Given the description of an element on the screen output the (x, y) to click on. 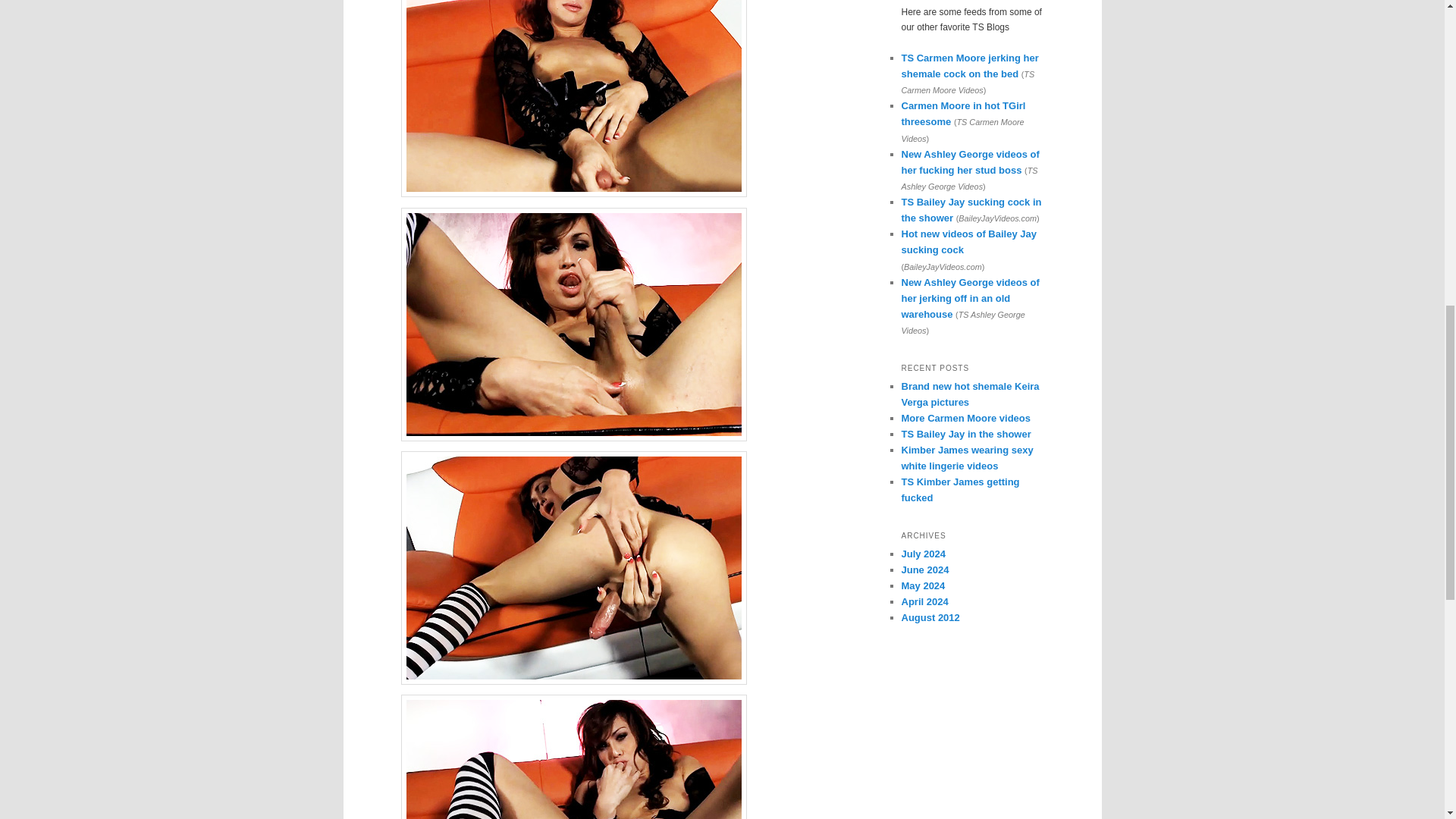
Carmen Moore in hot TGirl threesome (963, 113)
New Ashley George videos of her fucking her stud boss (970, 162)
Brand new hot shemale Keira Verga pictures (970, 393)
More Carmen Moore videos (965, 418)
hot jonelle brooks videos of her and her tight shemale ass (572, 567)
TS Bailey Jay sucking cock in the shower (971, 209)
tgirl jonelle brooks working her hard shemale cock on video (572, 756)
TS Carmen Moore jerking her shemale cock on the bed (969, 65)
Hot new videos of Bailey Jay sucking cock (968, 241)
ts jonelle brooks jerking her shemale cock (572, 98)
